Given the description of an element on the screen output the (x, y) to click on. 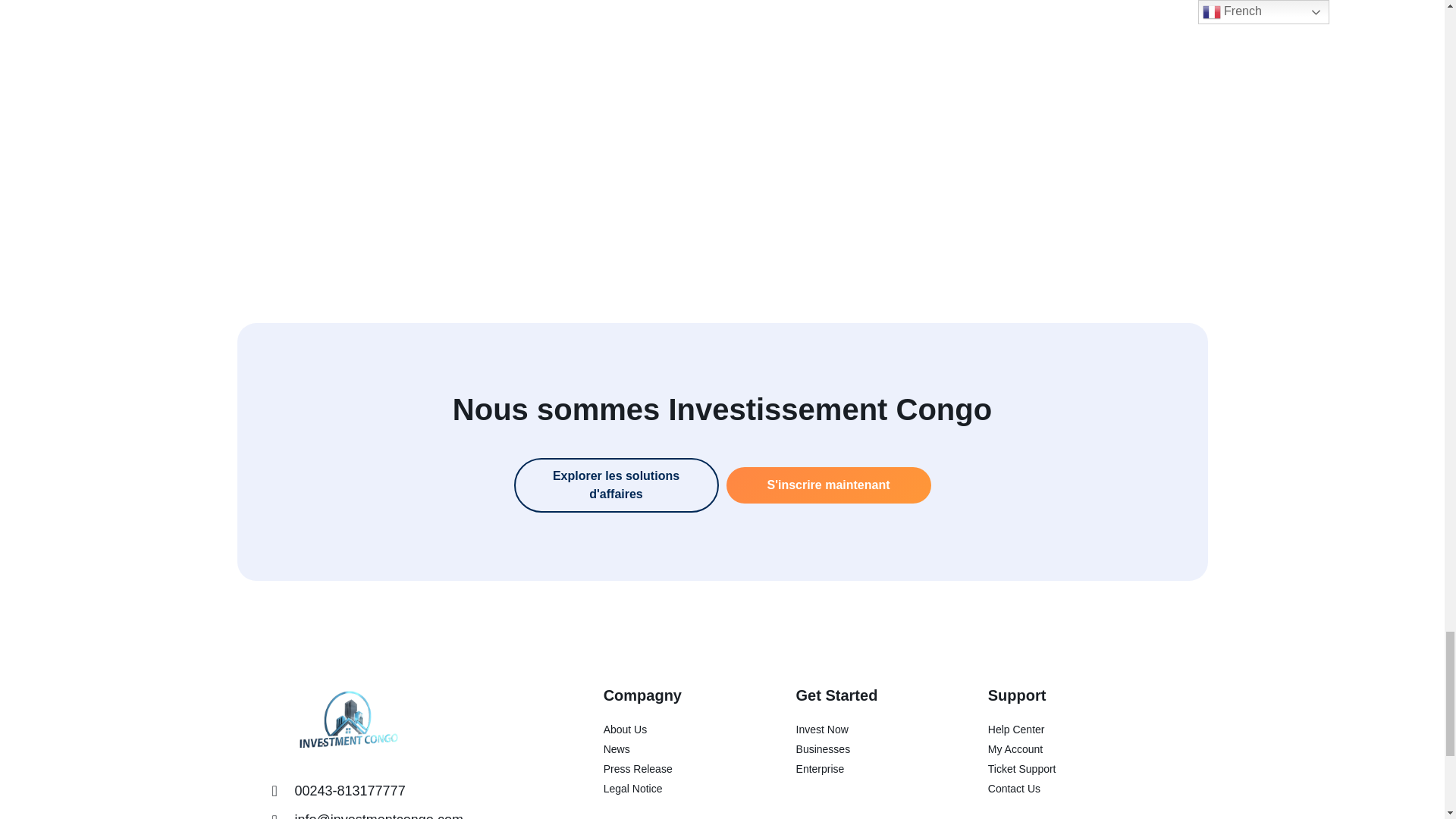
Help Center (1080, 729)
News (672, 749)
Press Release (672, 768)
Legal Notice (672, 788)
S'inscrire maintenant (828, 484)
Businesses (864, 749)
Explorer les solutions d'affaires (616, 484)
About Us (672, 729)
Enterprise (864, 768)
Invest Now (864, 729)
